Given the description of an element on the screen output the (x, y) to click on. 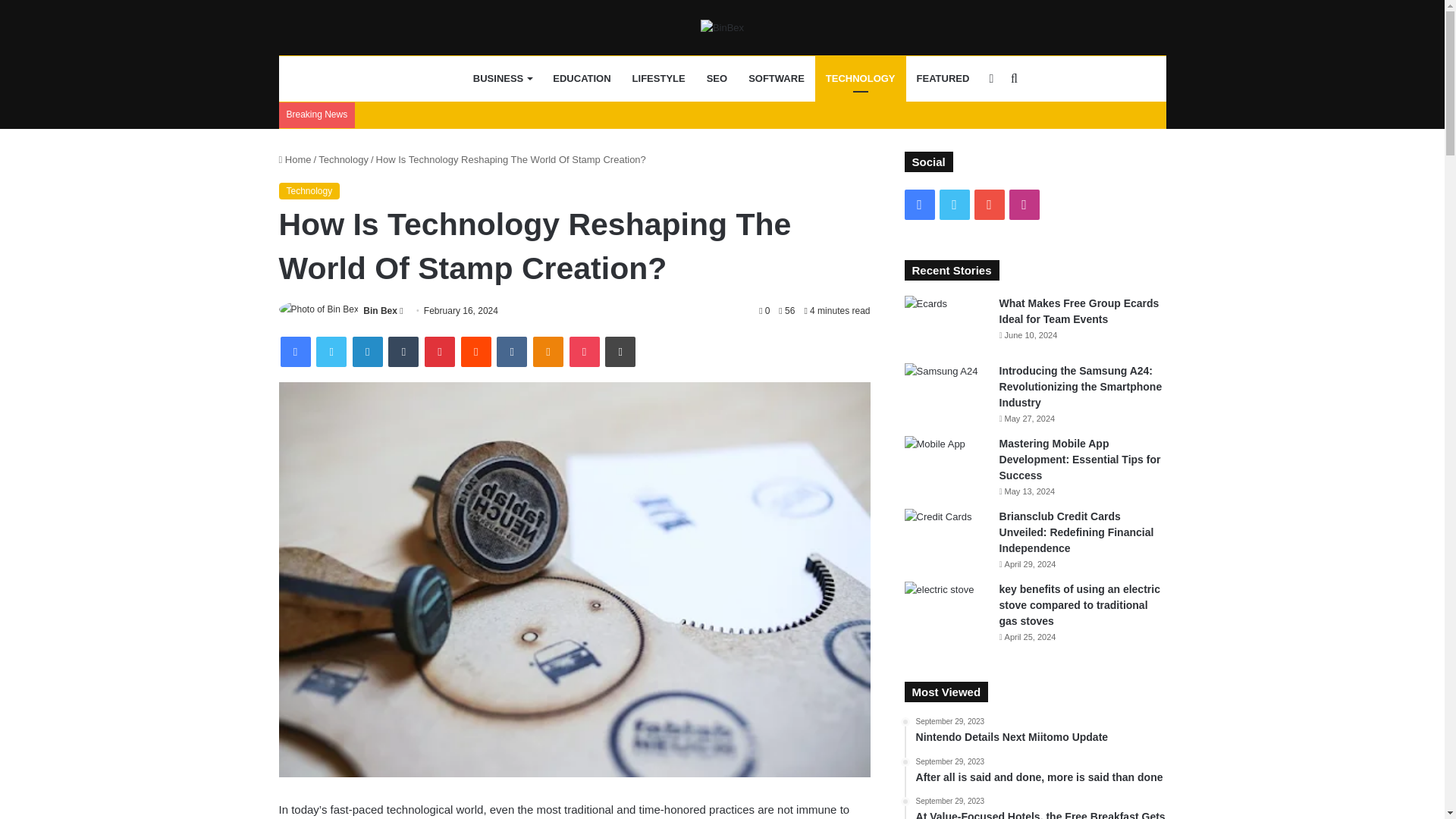
Search for (1014, 78)
VKontakte (511, 351)
Technology (343, 159)
Sidebar (991, 78)
LinkedIn (367, 351)
BinBex (722, 27)
Facebook (296, 351)
Facebook (296, 351)
Twitter (330, 351)
Pocket (583, 351)
Send an email (400, 310)
LIFESTYLE (658, 78)
Technology (309, 190)
Tumblr (403, 351)
Home (295, 159)
